Given the description of an element on the screen output the (x, y) to click on. 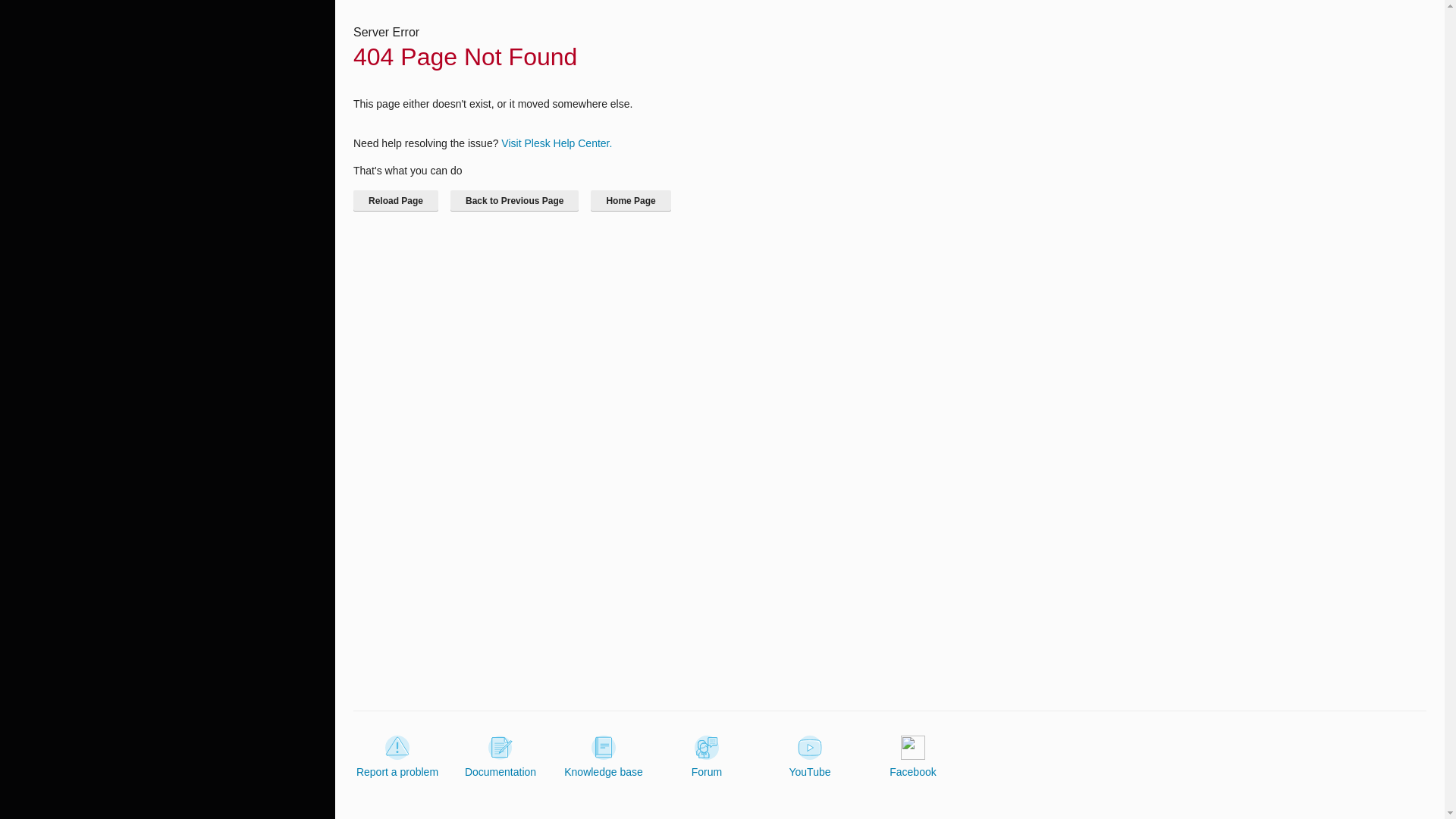
Documentation (500, 757)
Back to Previous Page (513, 200)
Reload Page (395, 200)
Forum (706, 757)
Visit Plesk Help Center. (555, 143)
Home Page (630, 200)
Facebook (912, 757)
YouTube (809, 757)
Knowledge base (603, 757)
Report a problem (397, 757)
